Given the description of an element on the screen output the (x, y) to click on. 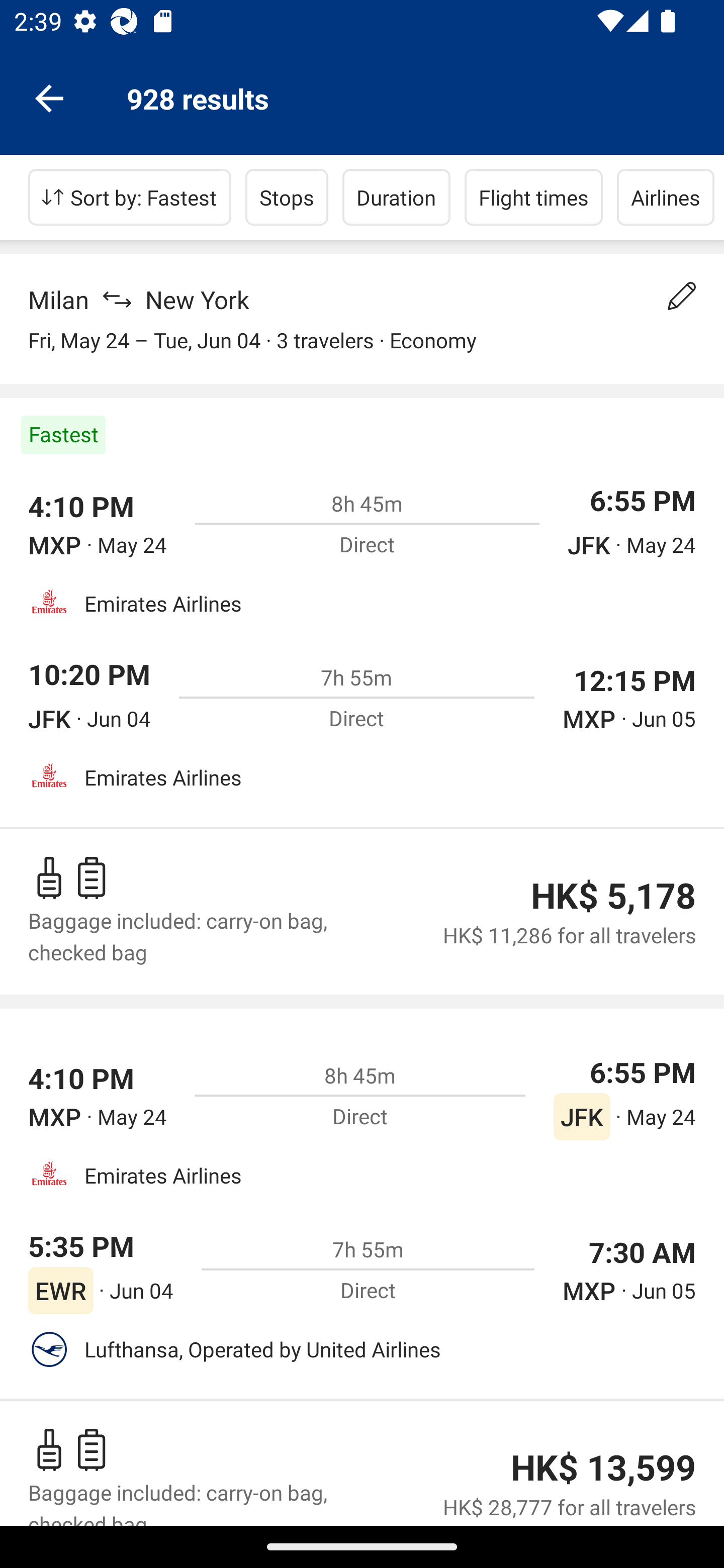
Navigate up (49, 97)
Sort by: Fastest (129, 197)
Stops (286, 197)
Duration (396, 197)
Flight times (533, 197)
Airlines (665, 197)
Change your search details (681, 296)
HK$ 5,178 (612, 895)
HK$ 13,599 (603, 1468)
